Given the description of an element on the screen output the (x, y) to click on. 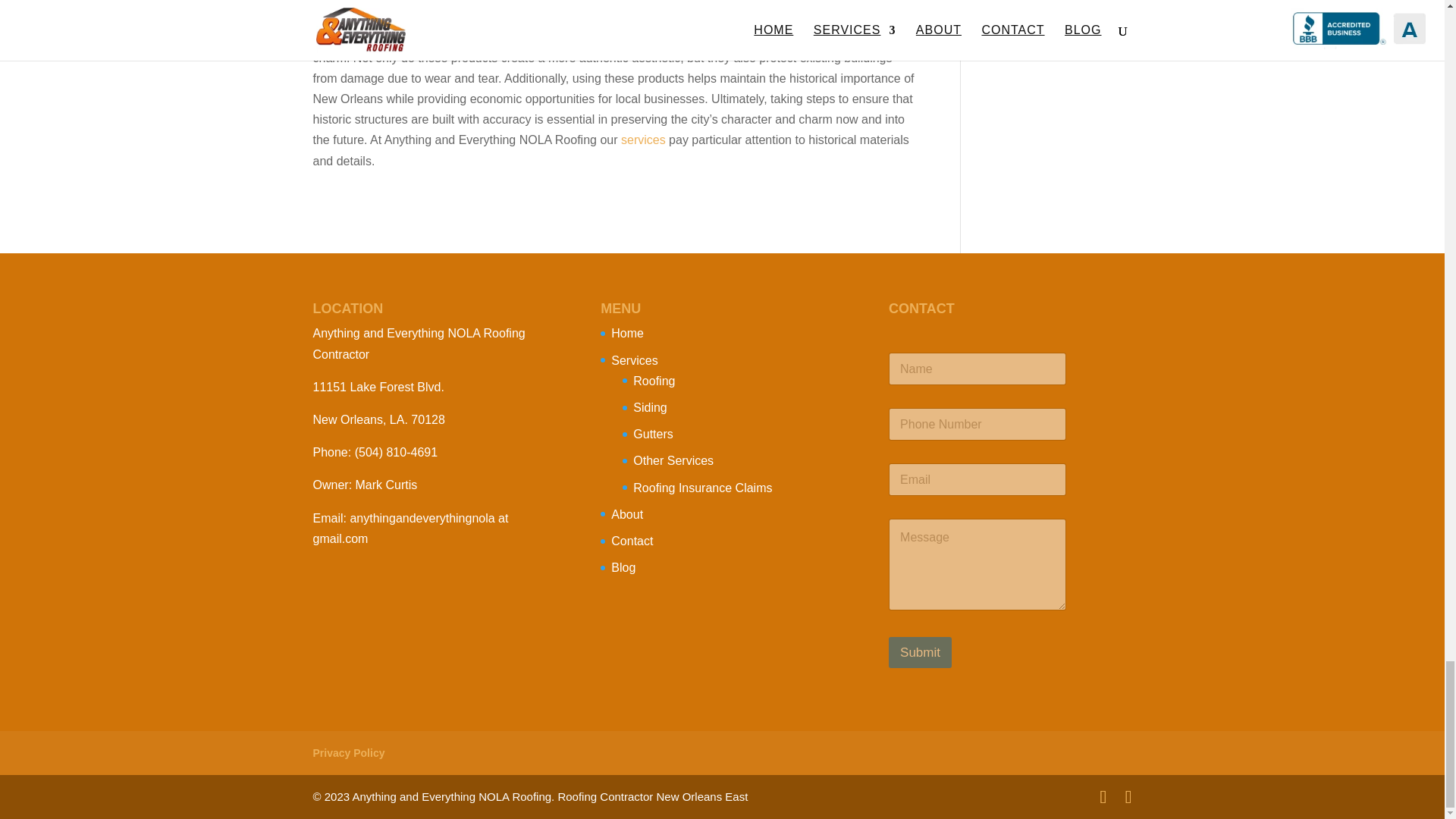
Gutters (652, 433)
About (627, 513)
Submit (920, 652)
Roofing Insurance Claims (702, 487)
Other Services (673, 460)
Roofing (654, 380)
Contact (631, 540)
Privacy Policy (348, 752)
Blog (622, 567)
Home (627, 332)
